Given the description of an element on the screen output the (x, y) to click on. 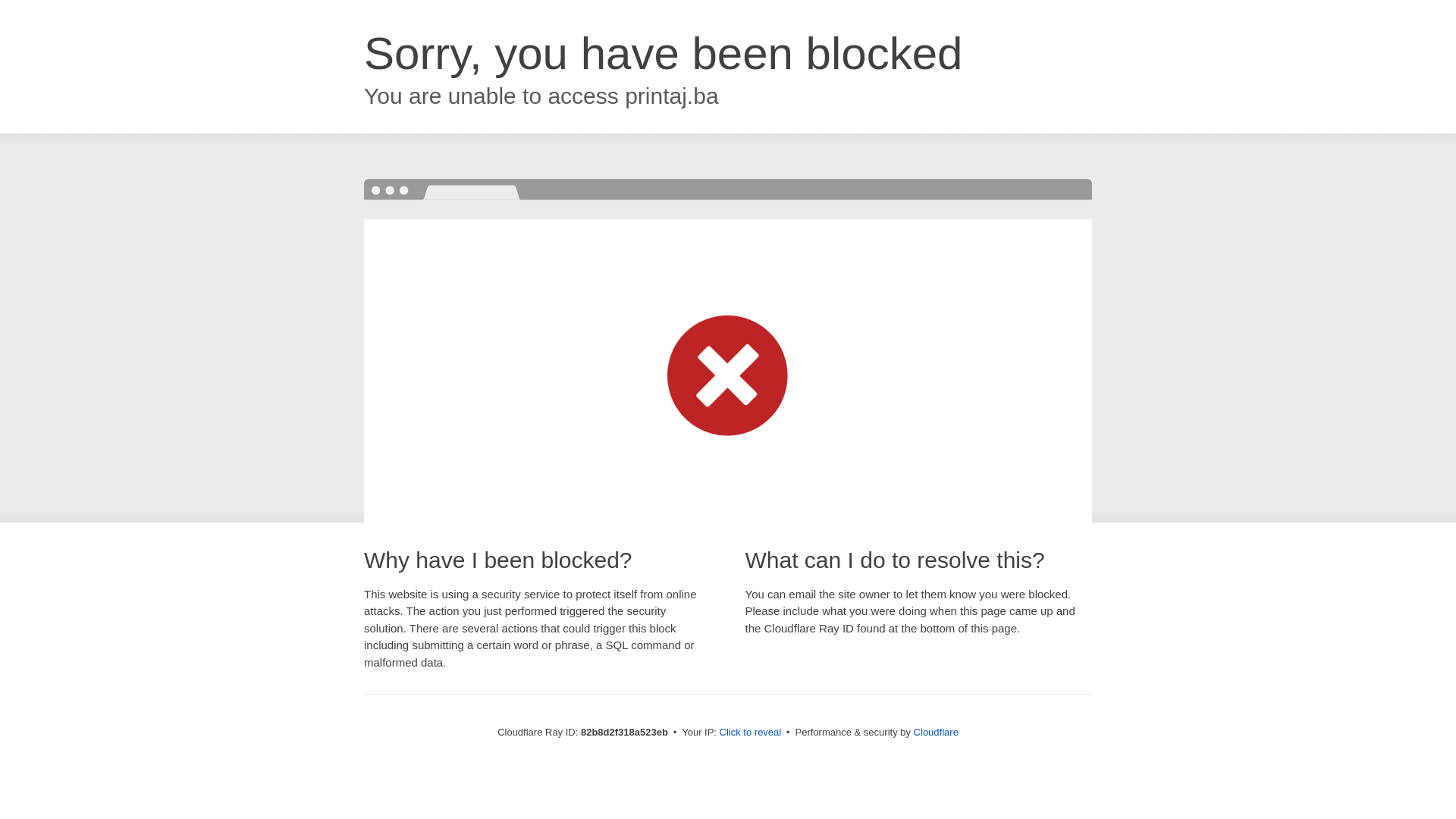
Click to reveal Element type: text (750, 732)
Cloudflare Element type: text (935, 731)
